Given the description of an element on the screen output the (x, y) to click on. 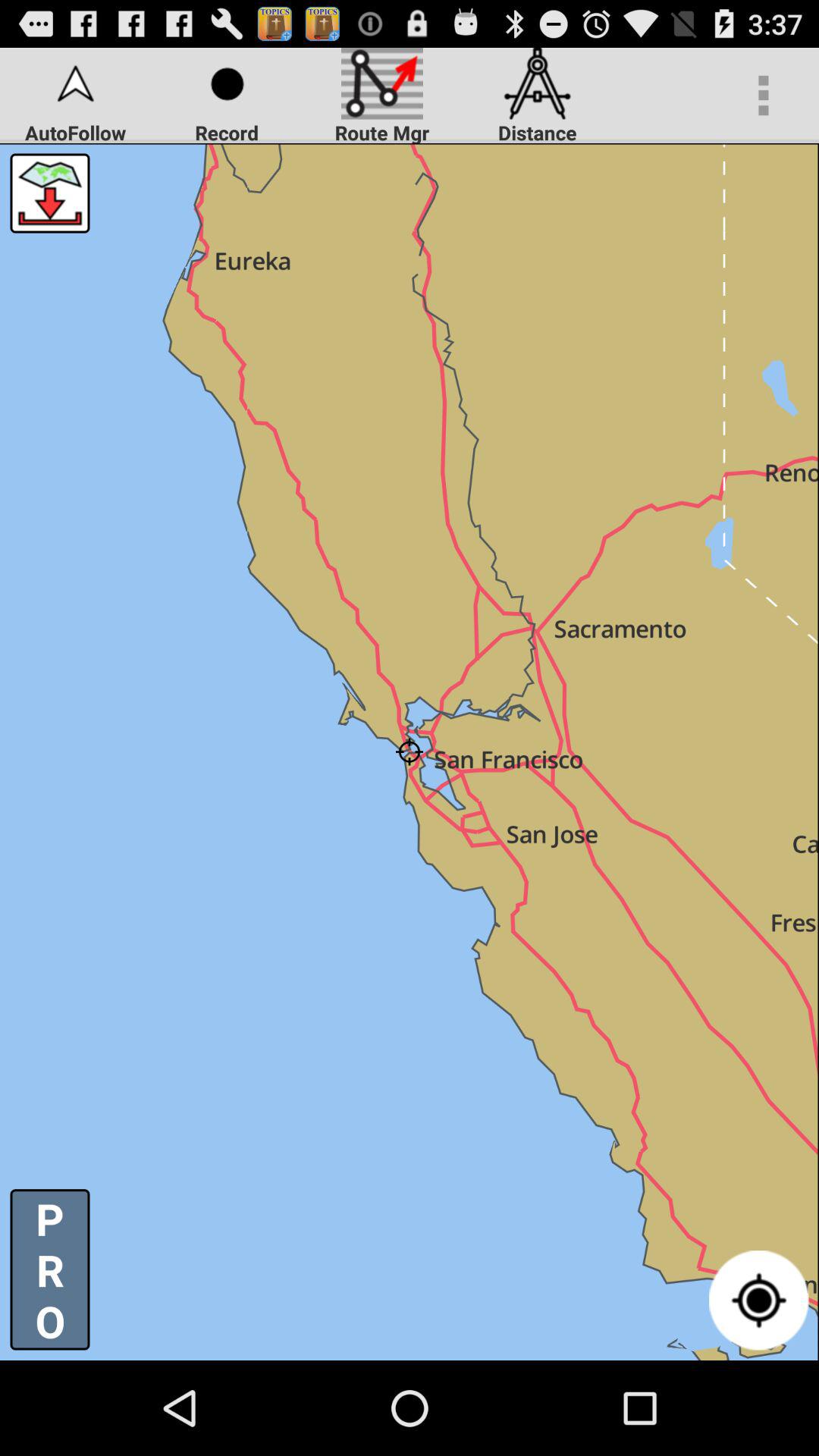
press item to the right of p
r
o item (758, 1300)
